Given the description of an element on the screen output the (x, y) to click on. 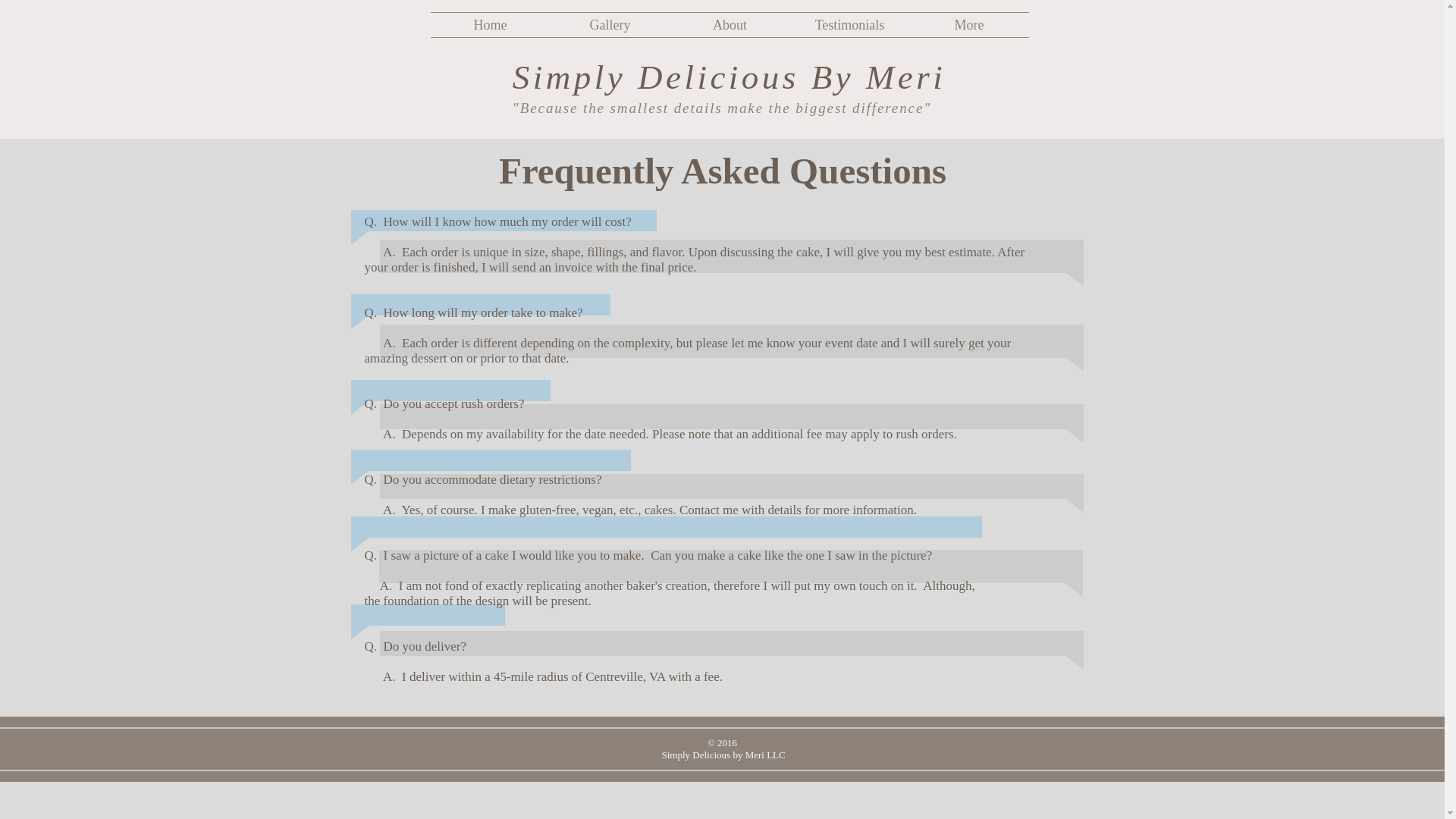
About (729, 24)
Home (490, 24)
Testimonials (850, 24)
